Given the description of an element on the screen output the (x, y) to click on. 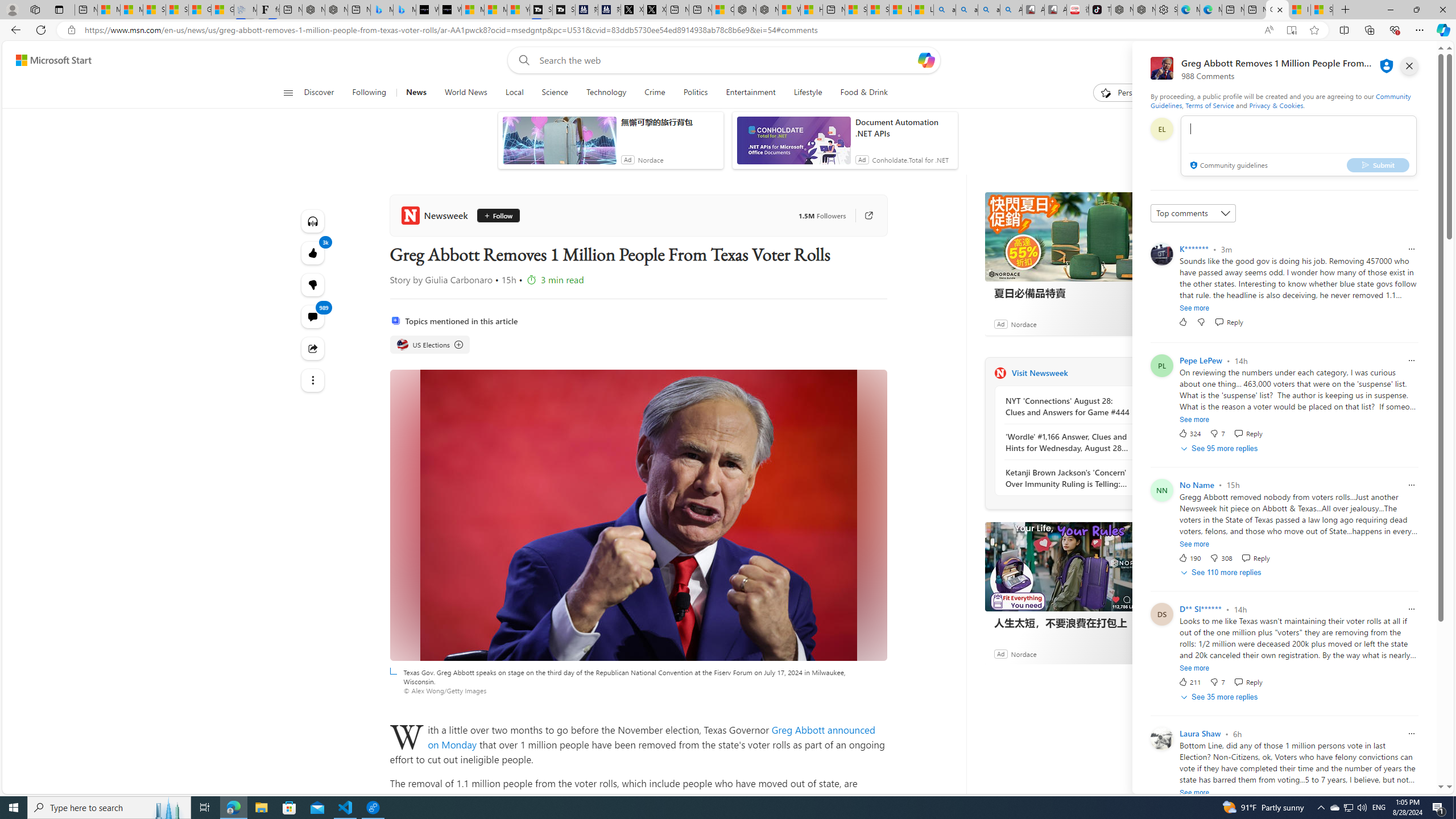
3k Like (312, 252)
View comments 989 Comment (312, 316)
Entertainment (750, 92)
Lifestyle (807, 92)
Science (554, 92)
Technology (605, 92)
anim-content (793, 144)
Follow (494, 215)
US Elections US Elections US Elections (430, 344)
